Given the description of an element on the screen output the (x, y) to click on. 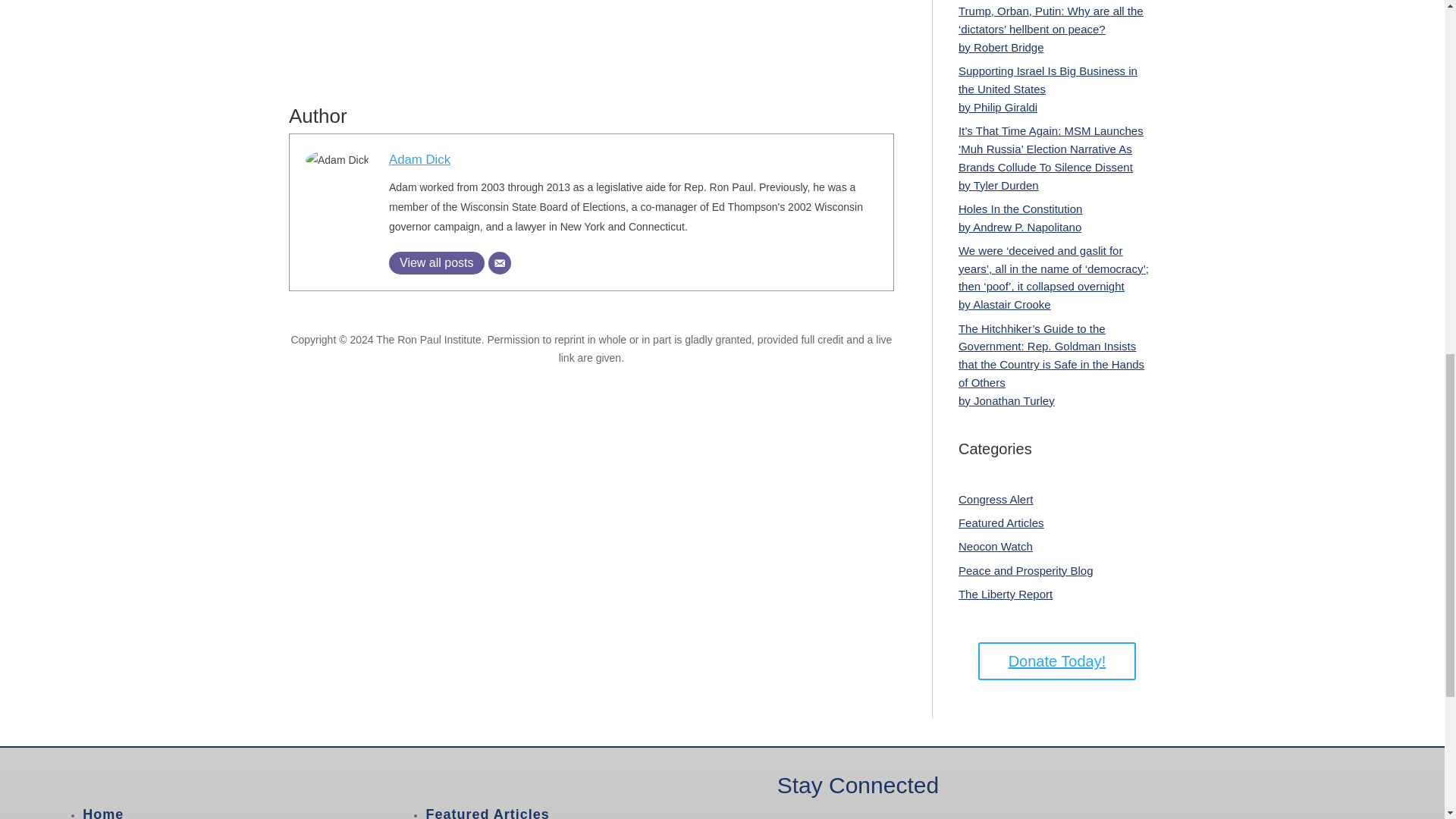
View all posts (436, 262)
Adam Dick (418, 159)
Adam Dick (418, 159)
View all posts (436, 262)
